Given the description of an element on the screen output the (x, y) to click on. 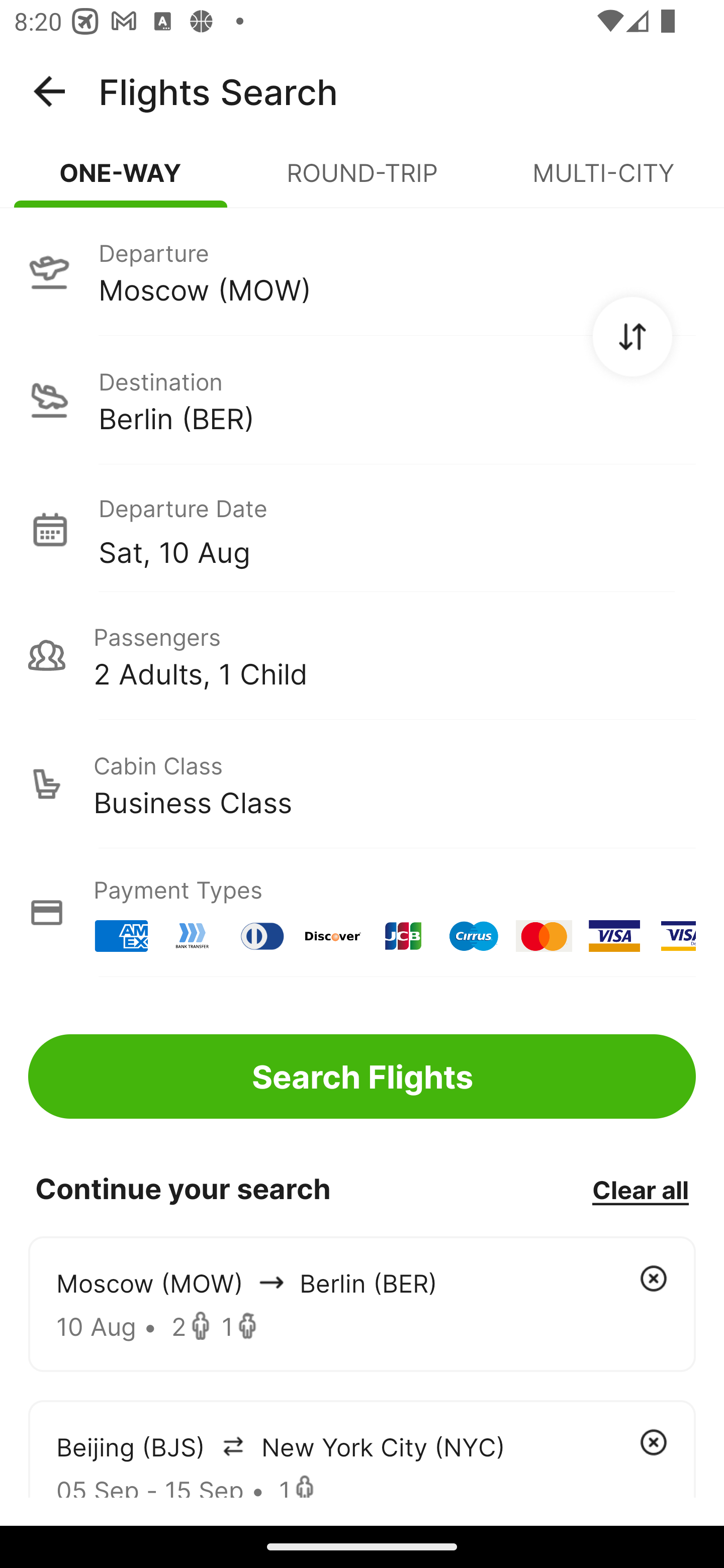
ONE-WAY (120, 180)
ROUND-TRIP (361, 180)
MULTI-CITY (603, 180)
Departure Moscow (MOW) (362, 270)
Destination Berlin (BER) (362, 400)
Departure Date Sat, 10 Aug (396, 528)
Passengers 2 Adults, 1 Child (362, 655)
Cabin Class Business Class (362, 783)
Payment Types (362, 912)
Search Flights (361, 1075)
Clear all (640, 1189)
